Given the description of an element on the screen output the (x, y) to click on. 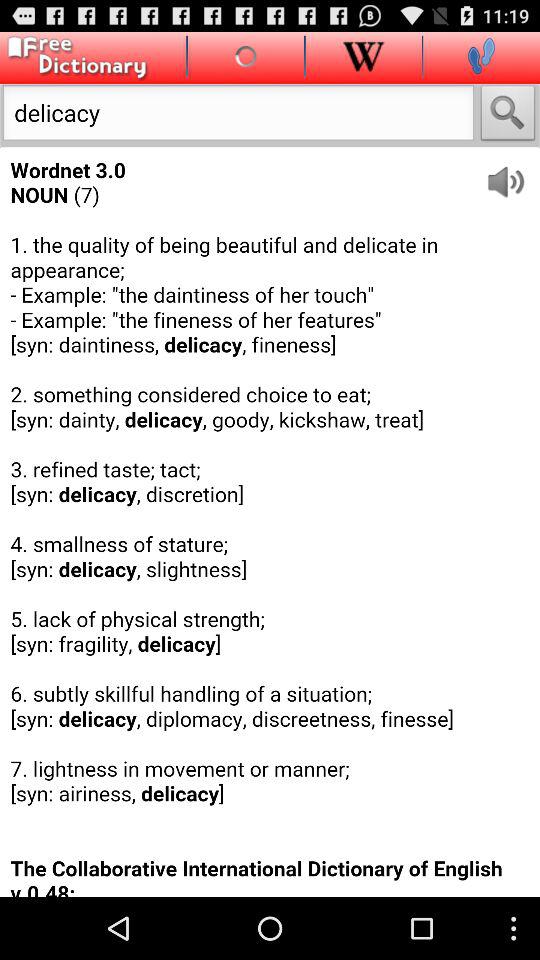
mute (512, 174)
